Given the description of an element on the screen output the (x, y) to click on. 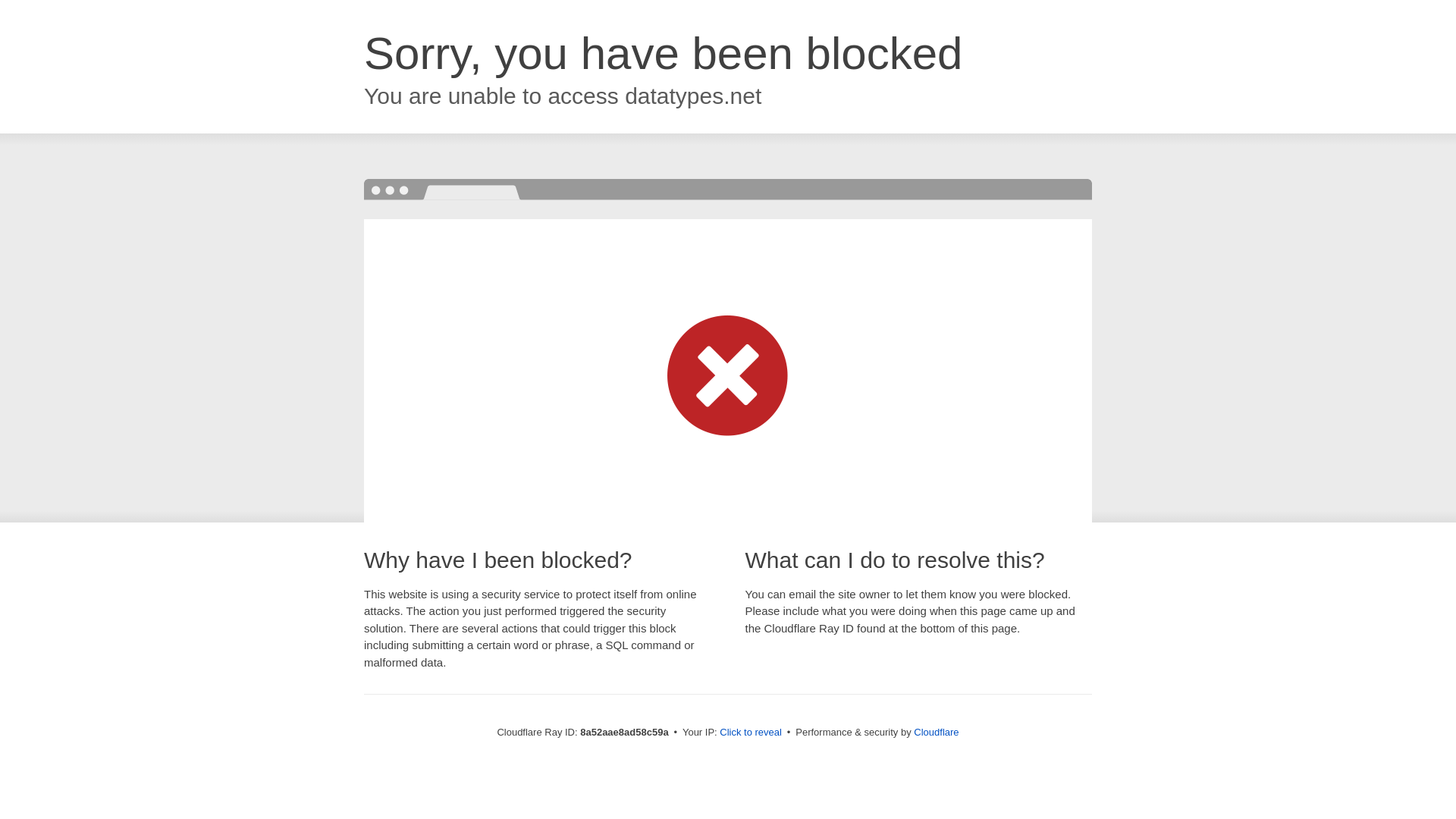
Cloudflare (936, 731)
Click to reveal (750, 732)
